Given the description of an element on the screen output the (x, y) to click on. 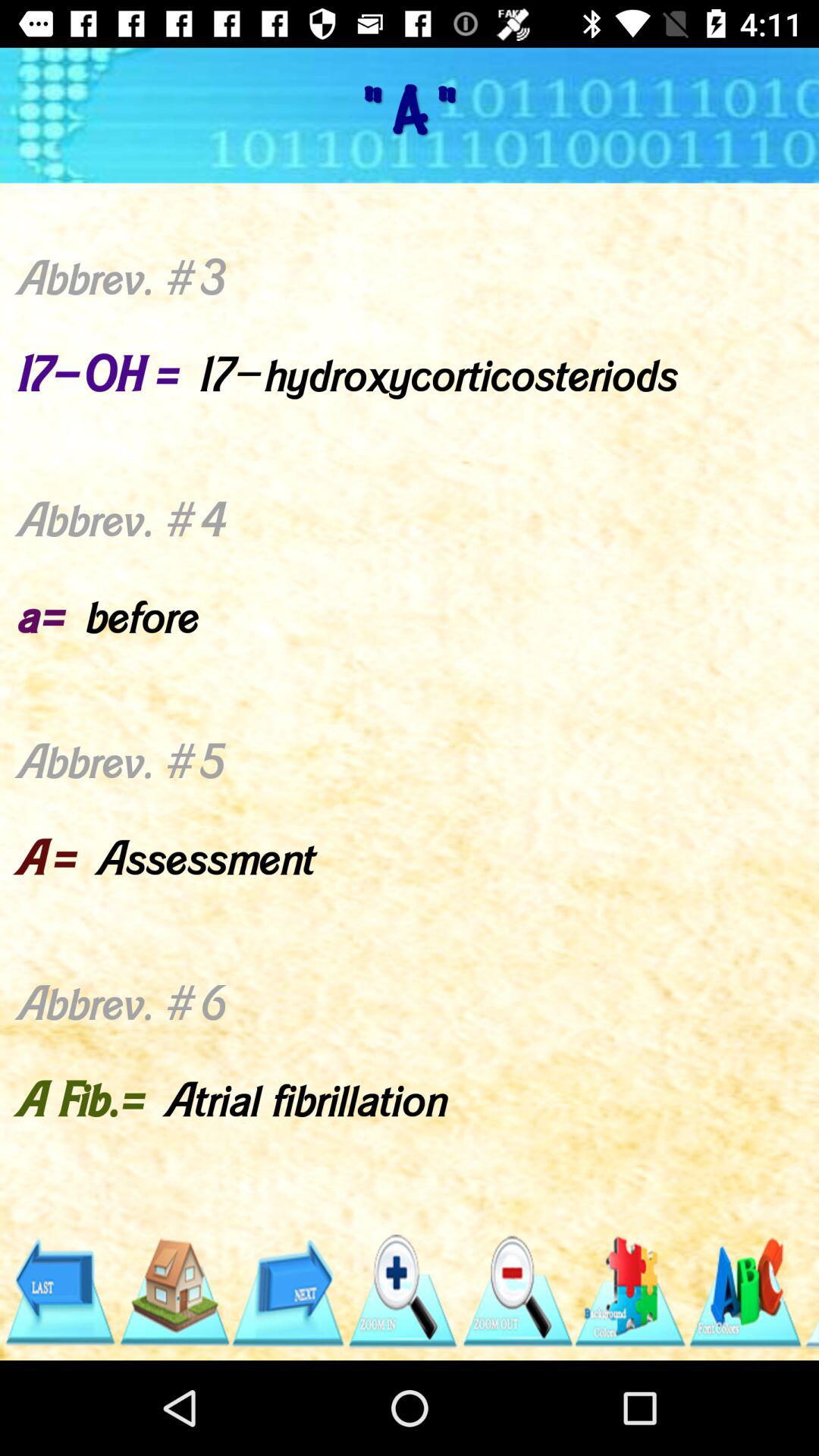
go to previous (59, 1291)
